Given the description of an element on the screen output the (x, y) to click on. 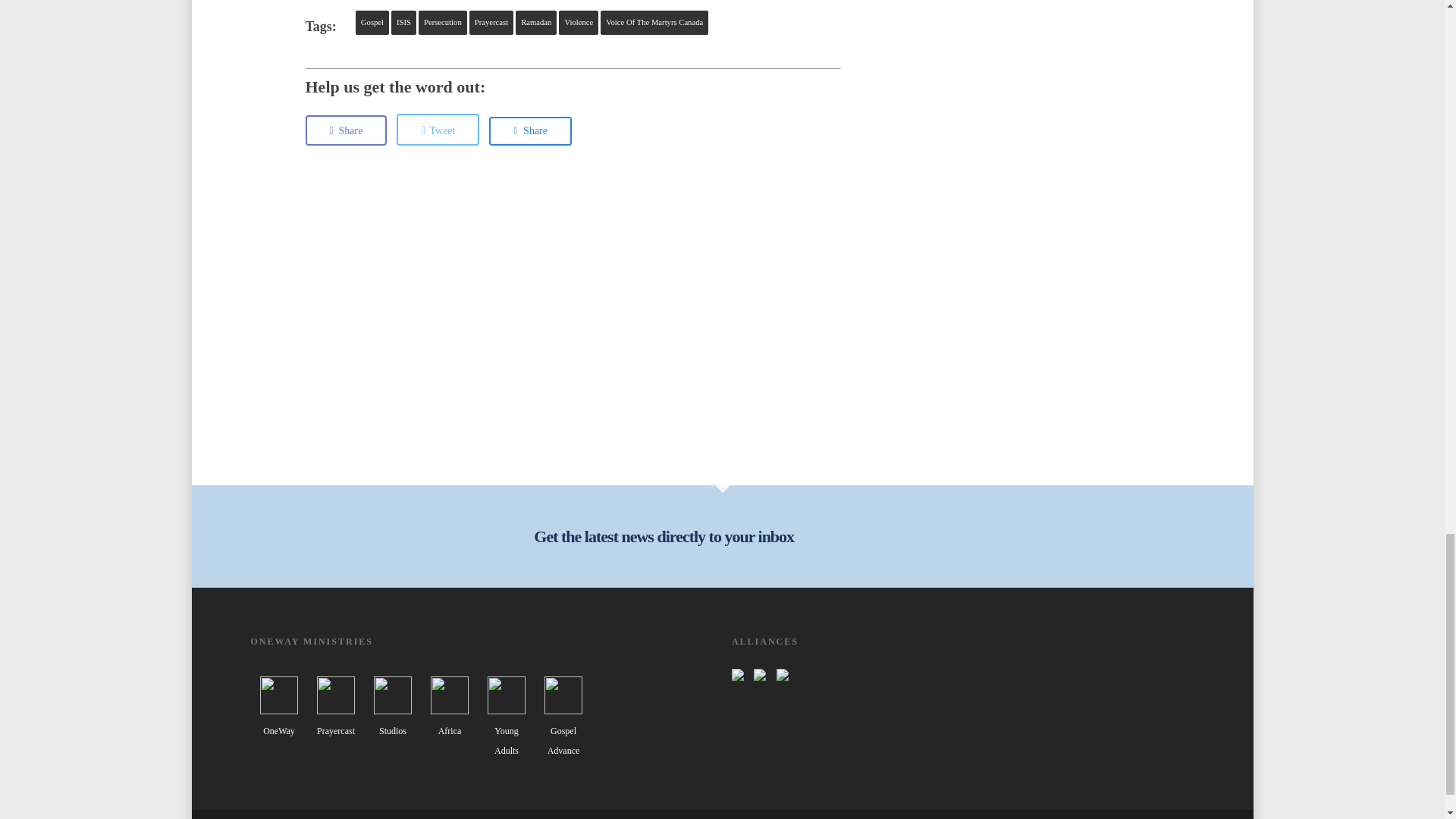
Persecution (443, 22)
Share this (530, 131)
Gospel (371, 22)
ISIS (403, 22)
Share this (345, 130)
Prayercast (490, 22)
Ramadan (535, 22)
Tweet this (437, 129)
